Given the description of an element on the screen output the (x, y) to click on. 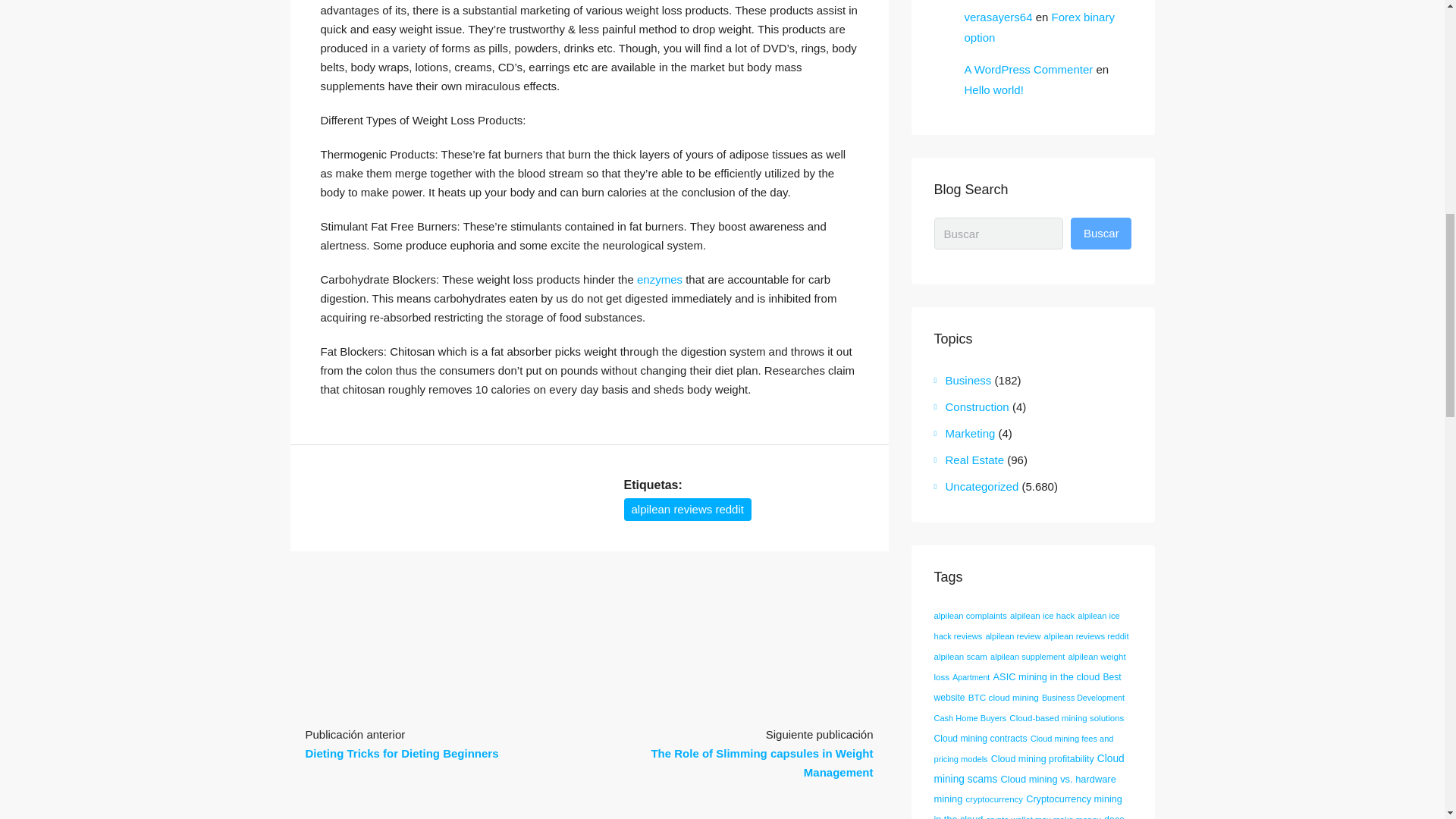
verasayers64 (997, 16)
A WordPress Commenter (1028, 69)
The Role of Slimming capsules in Weight Management (761, 762)
enzymes (659, 278)
Forex binary option (1039, 27)
alpilean reviews reddit (687, 508)
Dieting Tricks for Dieting Beginners (400, 753)
